Given the description of an element on the screen output the (x, y) to click on. 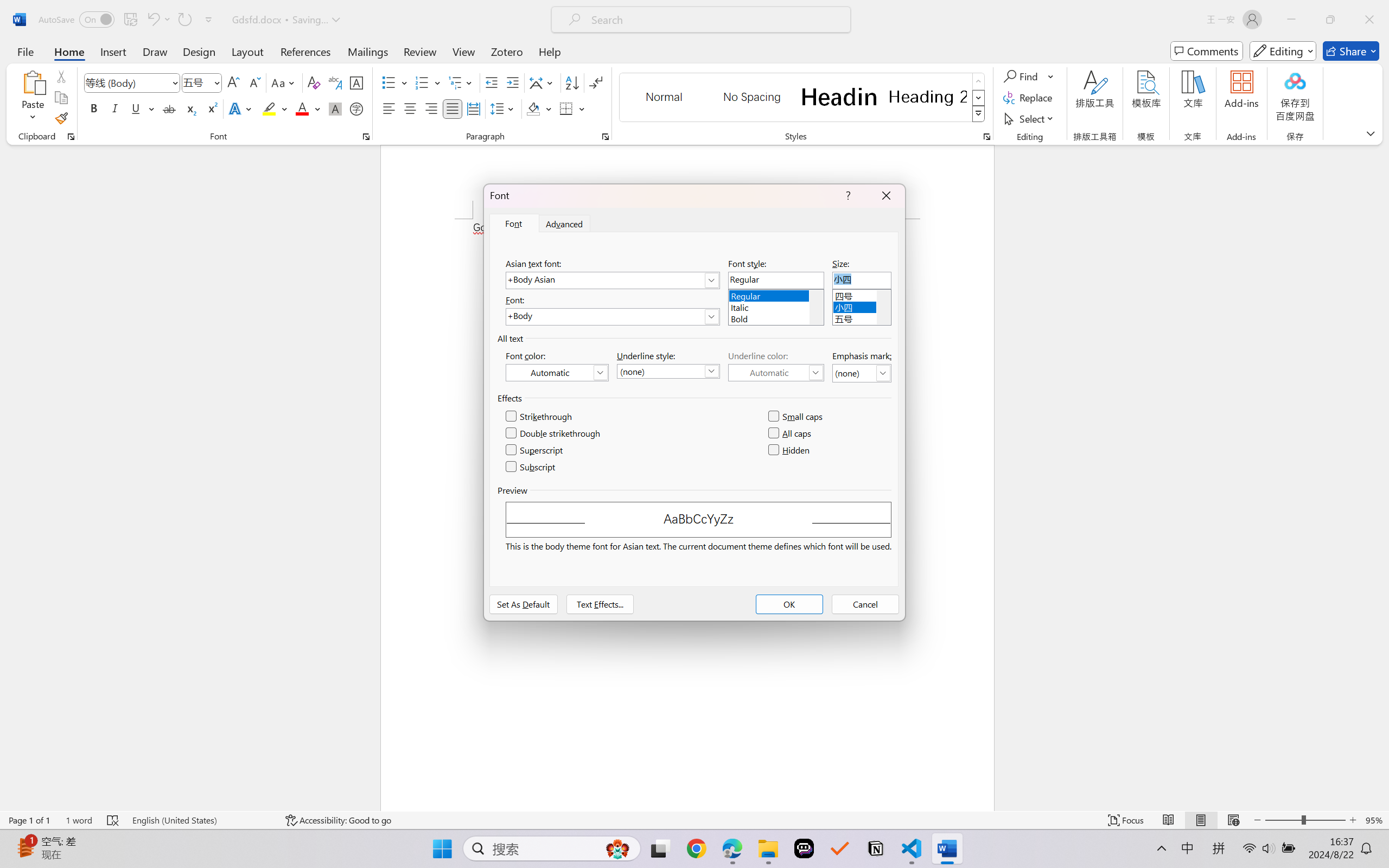
Double strikethrough (553, 433)
Font Color (308, 108)
Subscript (530, 466)
Decrease Indent (491, 82)
Size: (861, 280)
Change Case (284, 82)
Hidden (789, 450)
